Given the description of an element on the screen output the (x, y) to click on. 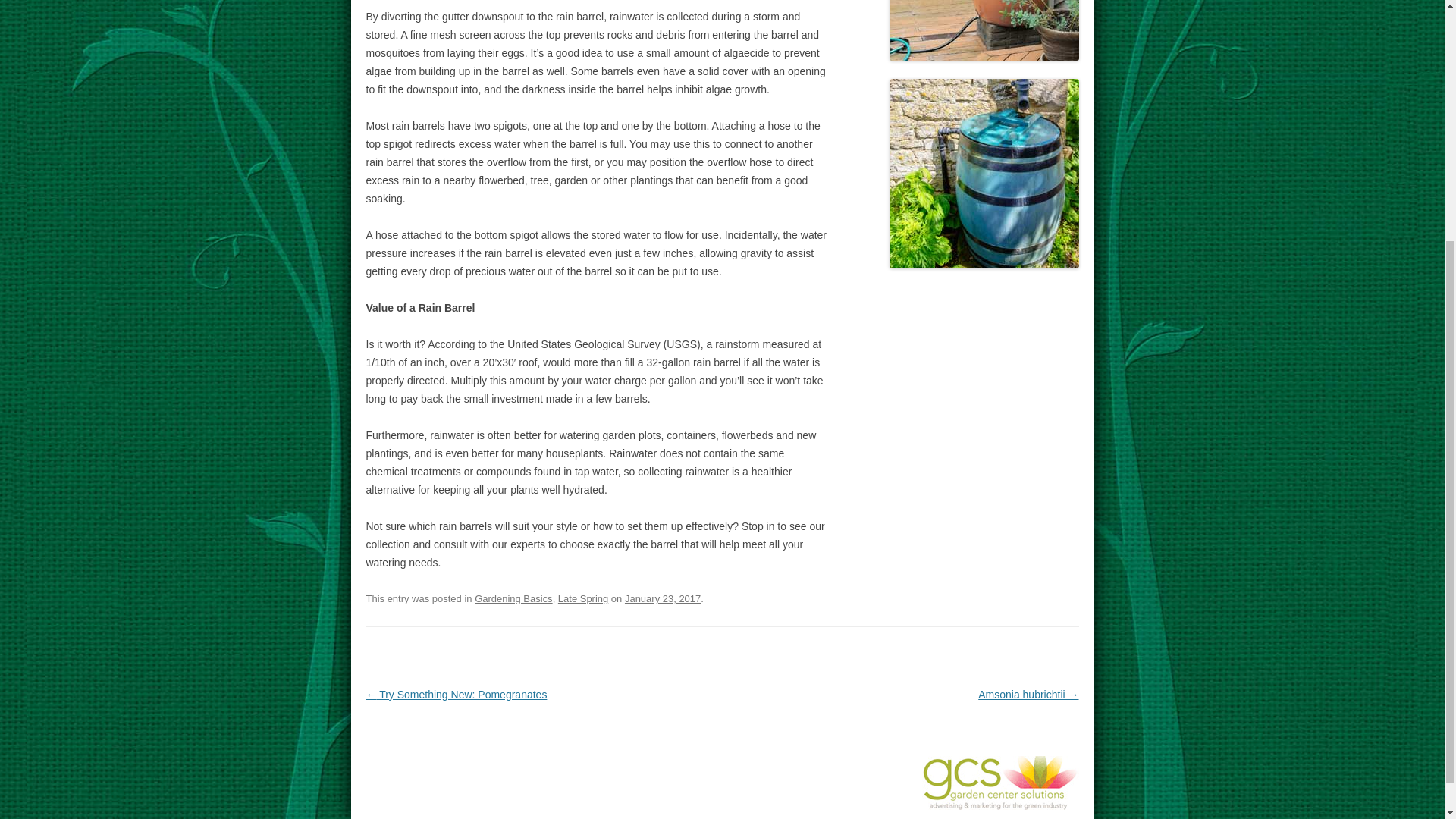
January 23, 2017 (662, 598)
Late Spring (582, 598)
Gardening Basics (513, 598)
12:37 pm (662, 598)
